Given the description of an element on the screen output the (x, y) to click on. 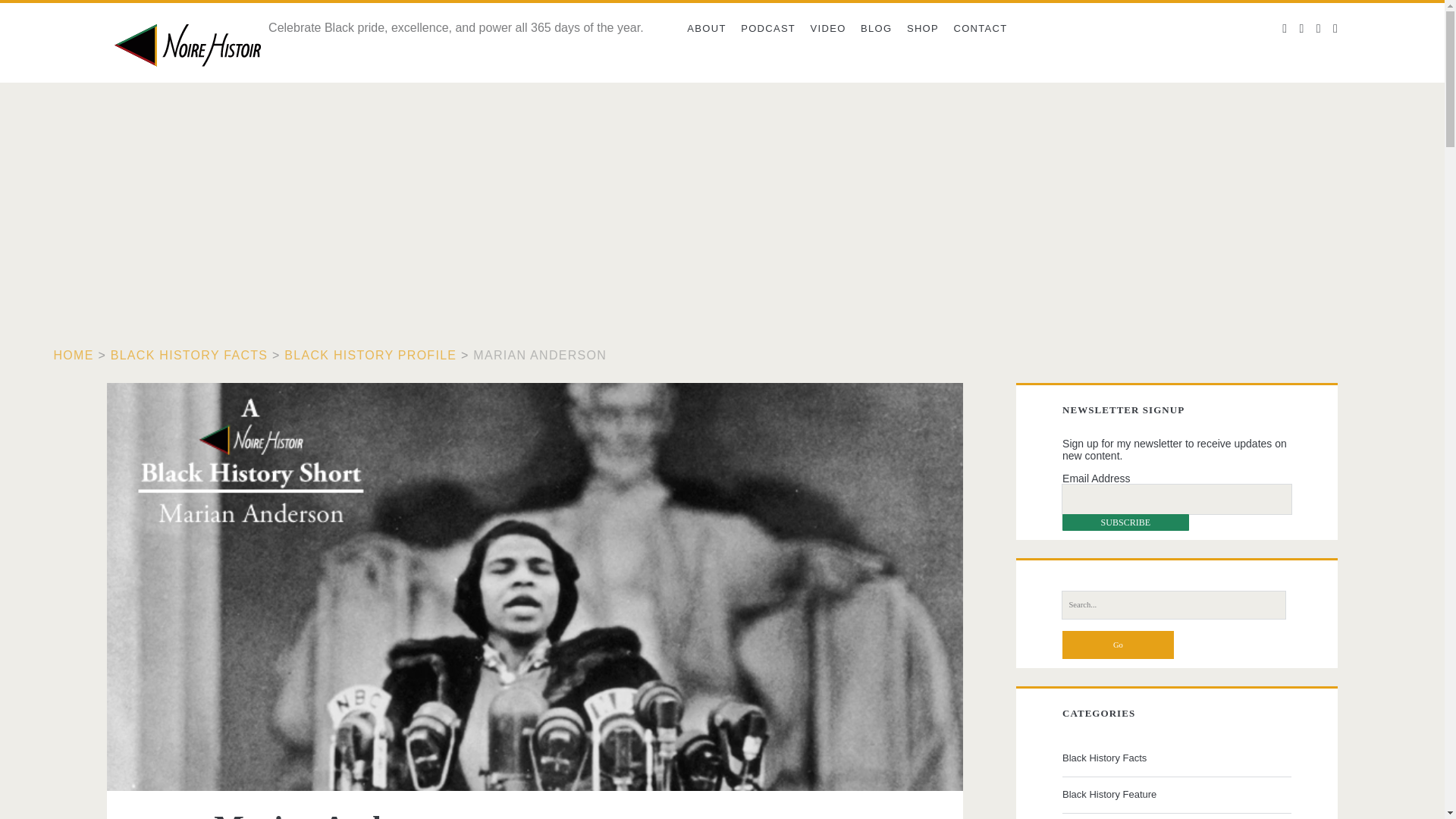
SUBSCRIBE (1125, 522)
BLOG (876, 28)
Marian Anderson (540, 354)
Go (1117, 644)
CONTACT (980, 28)
VIDEO (828, 28)
Black History Facts (1174, 758)
PODCAST (767, 28)
Go (1117, 644)
ABOUT (706, 28)
SUBSCRIBE (1125, 522)
BLACK HISTORY FACTS (188, 354)
Black History Feature (1174, 794)
HOME (73, 354)
Go (1117, 644)
